Given the description of an element on the screen output the (x, y) to click on. 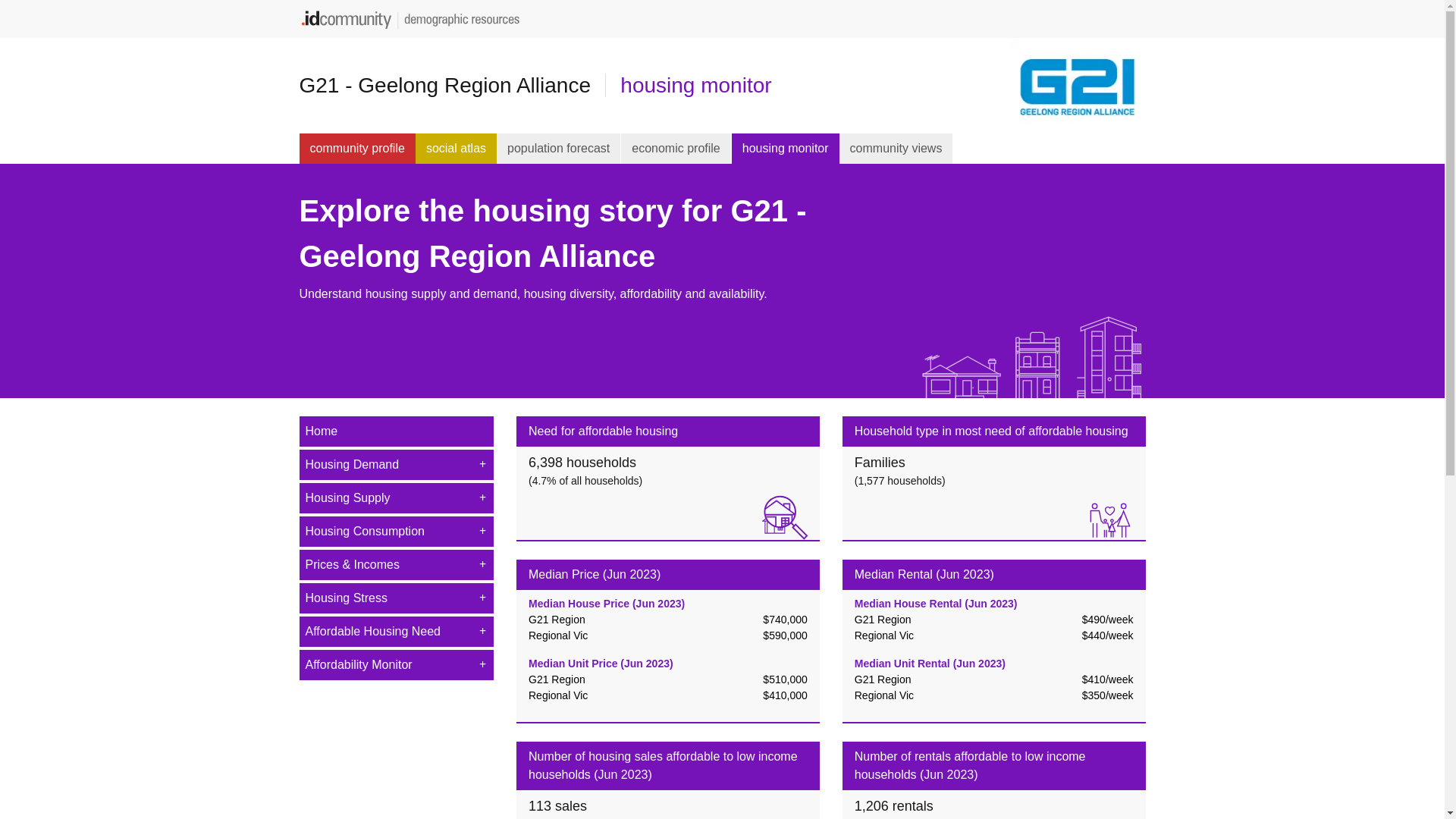
Affordability Monitor Element type: text (395, 664)
Median Price (Jun 2023) Element type: text (667, 574)
Median Rental (Jun 2023) Element type: text (993, 574)
housing monitor Element type: text (785, 148)
G21 - Geelong Region Alliance Element type: text (451, 85)
Home Element type: text (395, 431)
Housing Stress Element type: text (395, 598)
Find more community demographic resources Element type: text (412, 17)
Household type in most need of affordable housing Element type: text (993, 431)
community views Element type: text (896, 148)
Prices & Incomes Element type: text (395, 564)
community profile Element type: text (356, 148)
social atlas Element type: text (455, 148)
Need for affordable housing Element type: text (667, 431)
Housing Consumption Element type: text (395, 531)
Housing Supply Element type: text (395, 498)
Housing Demand Element type: text (395, 464)
housing monitor Element type: text (695, 85)
population forecast Element type: text (558, 148)
economic profile Element type: text (676, 148)
Affordable Housing Need Element type: text (395, 631)
